Given the description of an element on the screen output the (x, y) to click on. 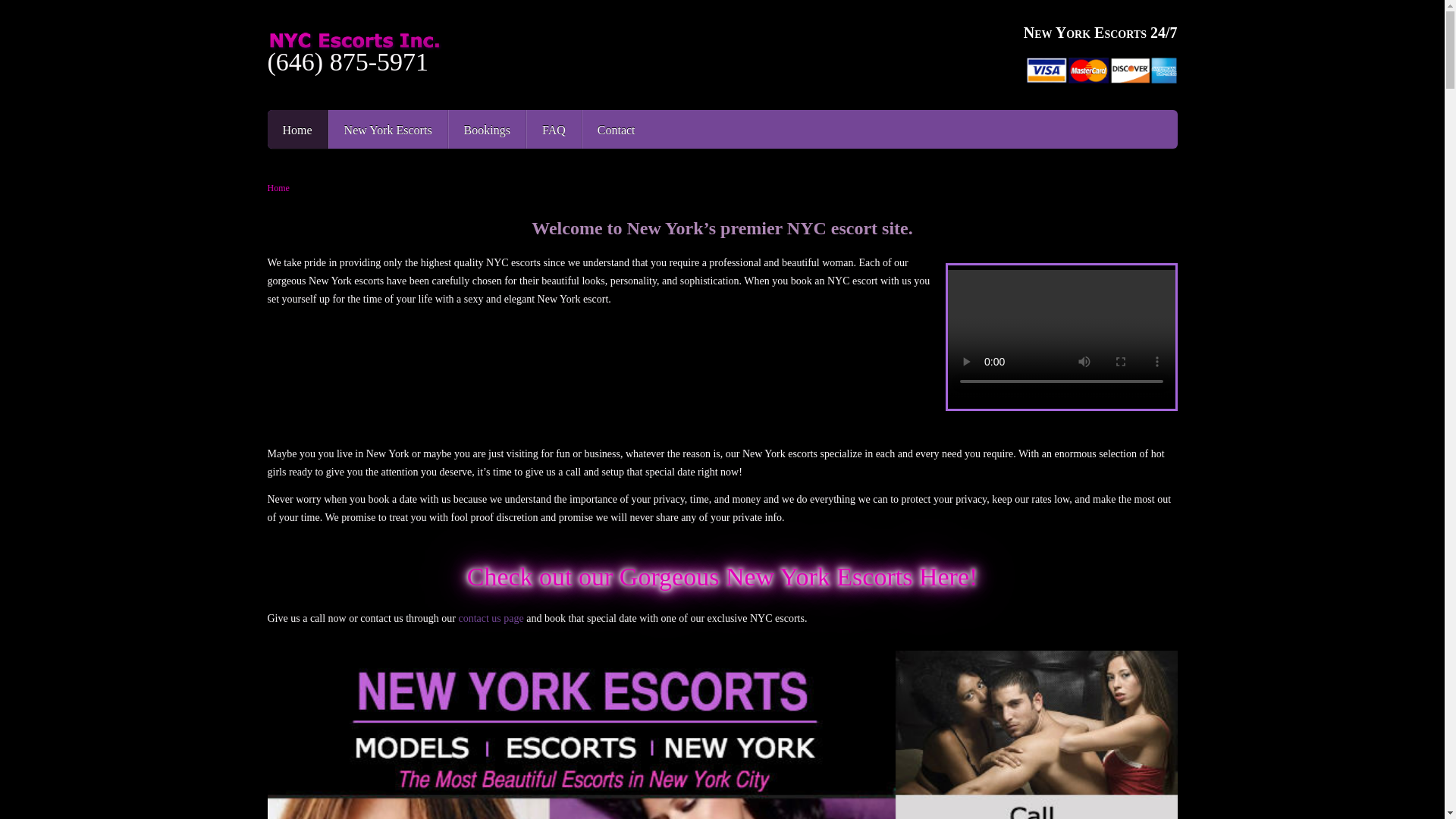
FAQ (552, 128)
Check out our Gorgeous New York Escorts Here! (722, 576)
NYC Escorts inc (439, 41)
Contact (615, 128)
Bookings (486, 128)
contact us page (490, 618)
Home (296, 128)
New York Escorts (388, 128)
